Given the description of an element on the screen output the (x, y) to click on. 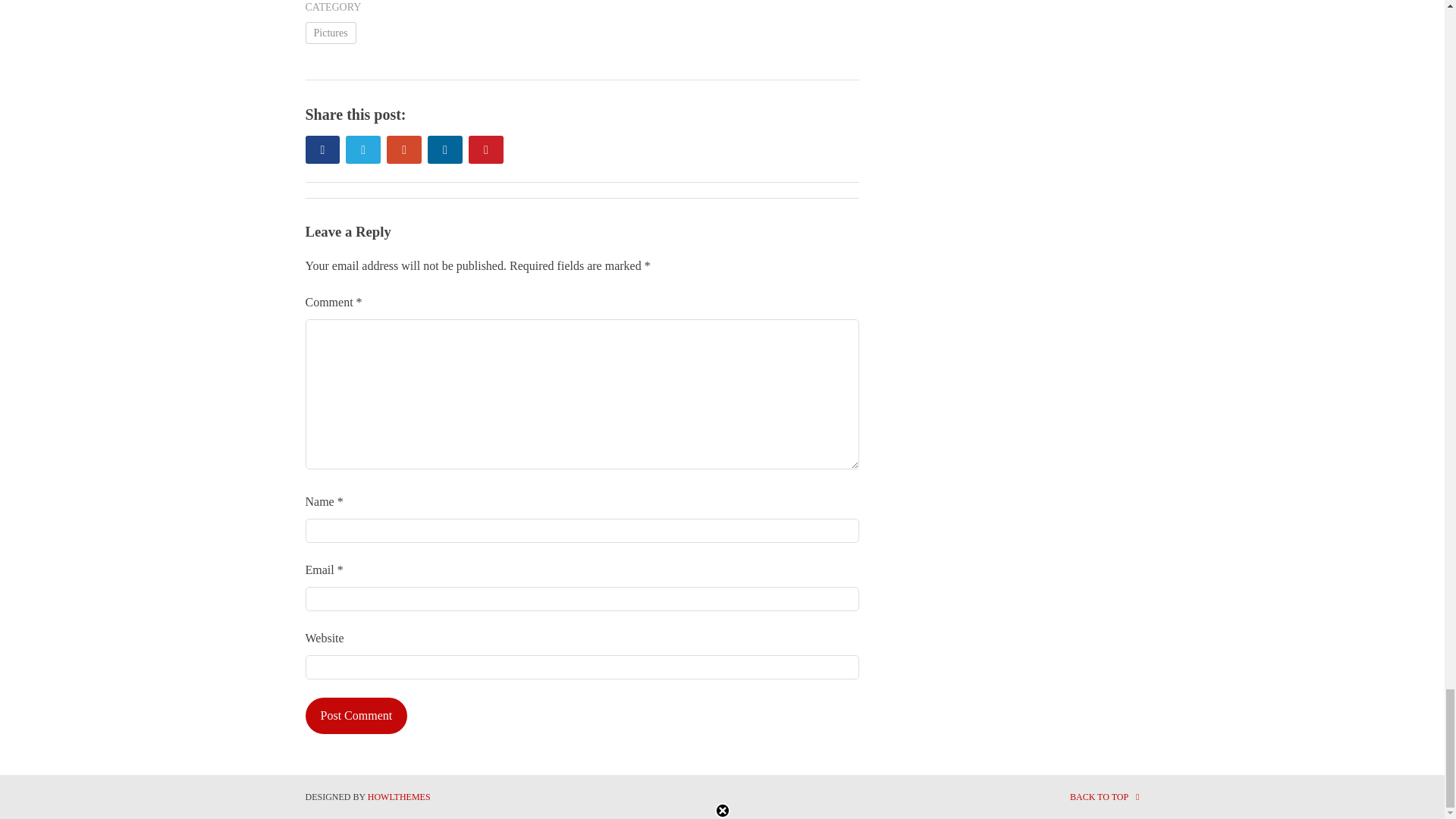
Pictures (329, 33)
Back to top (1105, 796)
Post Comment (355, 715)
Post Comment (355, 715)
